Given the description of an element on the screen output the (x, y) to click on. 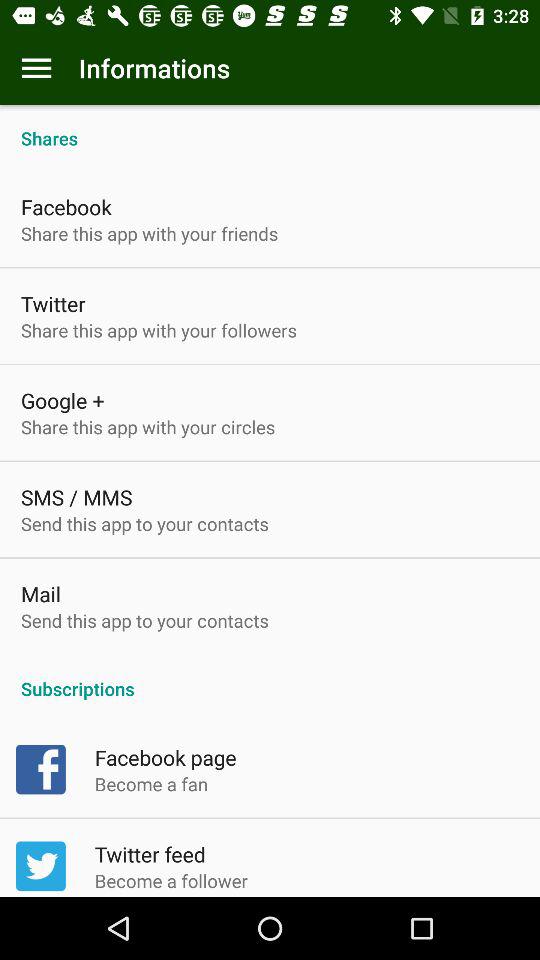
launch item above the shares item (36, 68)
